Given the description of an element on the screen output the (x, y) to click on. 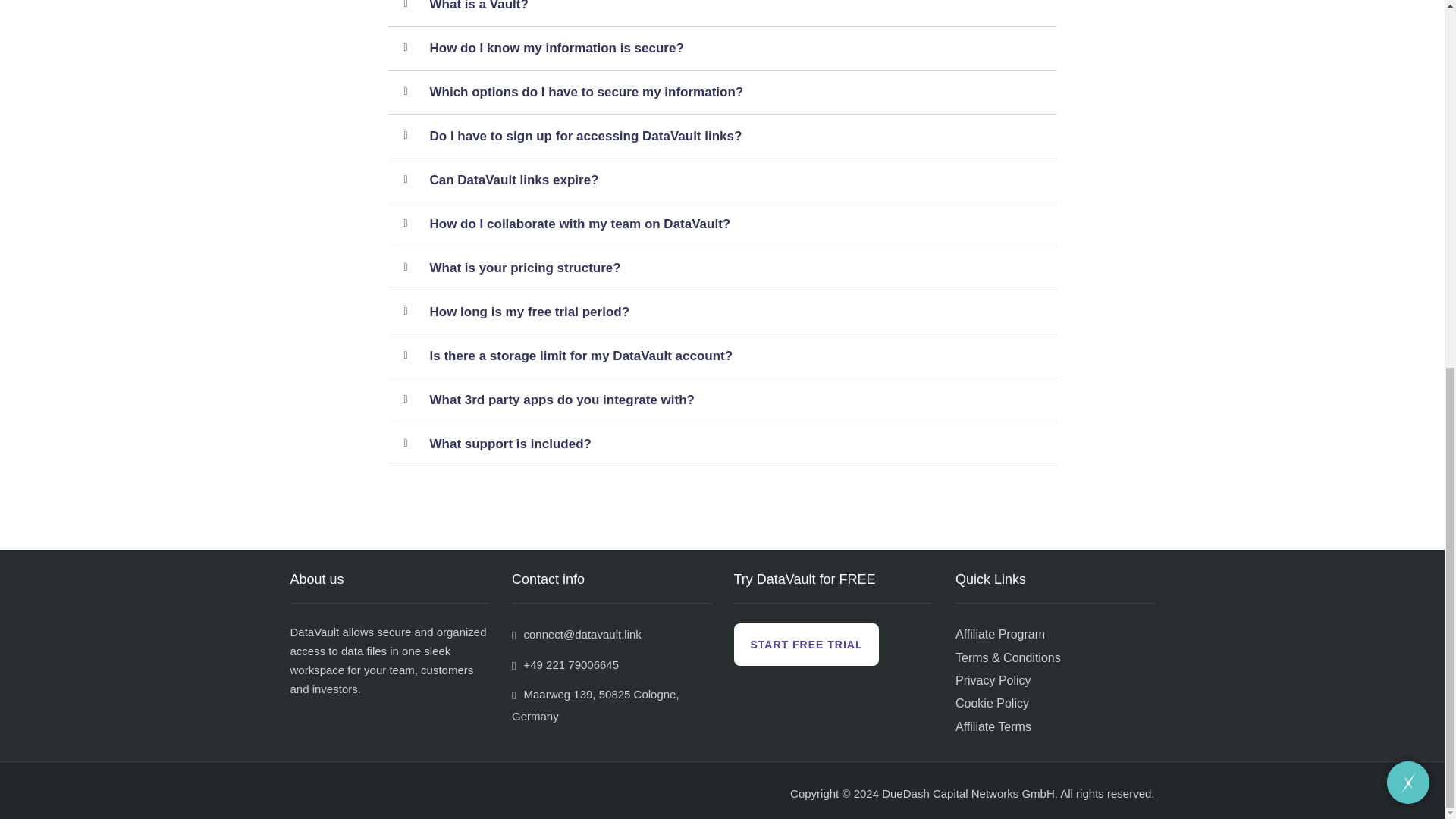
How do I know my information is secure? (555, 47)
Do I have to sign up for accessing DataVault links? (585, 135)
What support is included? (509, 443)
What is a Vault? (478, 13)
How long is my free trial period? (529, 311)
Which options do I have to secure my information? (585, 91)
Is there a storage limit for my DataVault account? (580, 355)
START FREE TRIAL (806, 644)
Can DataVault links expire? (512, 180)
What is your pricing structure? (523, 267)
How do I collaborate with my team on DataVault? (579, 223)
What 3rd party apps do you integrate with? (561, 399)
